Given the description of an element on the screen output the (x, y) to click on. 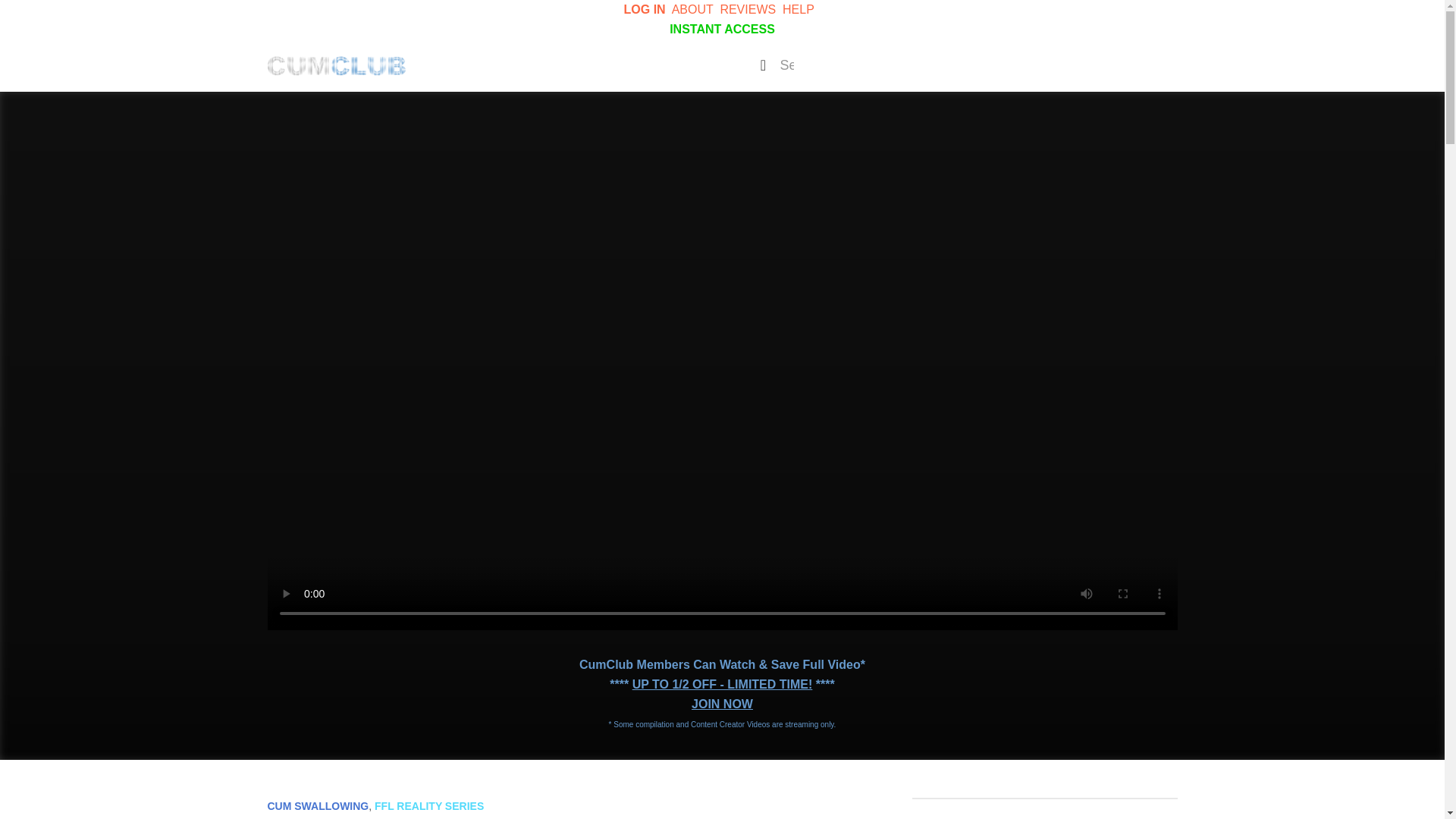
ABOUT (692, 9)
HELP (798, 9)
LOG IN (644, 9)
INSTANT ACCESS (721, 29)
REVIEWS (747, 9)
FFL REALITY SERIES (428, 806)
CUM SWALLOWING (317, 806)
